Given the description of an element on the screen output the (x, y) to click on. 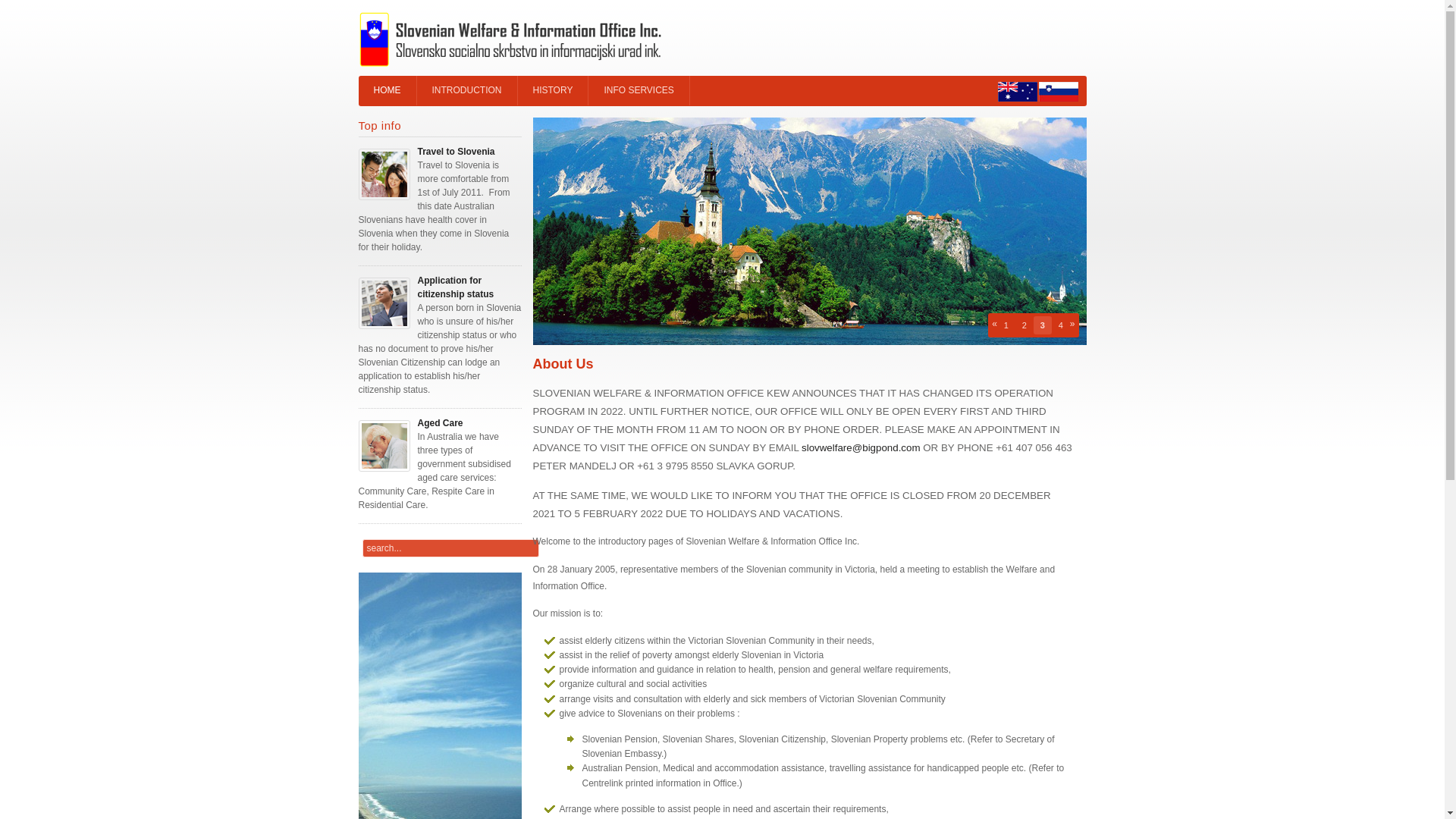
English(Australia) Element type: hover (1017, 91)
Application for citizenship status Element type: text (455, 287)
Travel to Slovenia Element type: text (455, 151)
INFO SERVICES Element type: text (638, 90)
HOME Element type: text (386, 90)
slovwelfare@bigpond.com Element type: text (860, 447)
HISTORY Element type: text (552, 90)
Slovenian Welfare & Information Office Inc. Element type: hover (509, 39)
About Us Element type: text (562, 363)
Slovenian (SI) Element type: hover (1058, 91)
INTRODUCTION Element type: text (467, 90)
Aged Care Element type: text (439, 422)
